Given the description of an element on the screen output the (x, y) to click on. 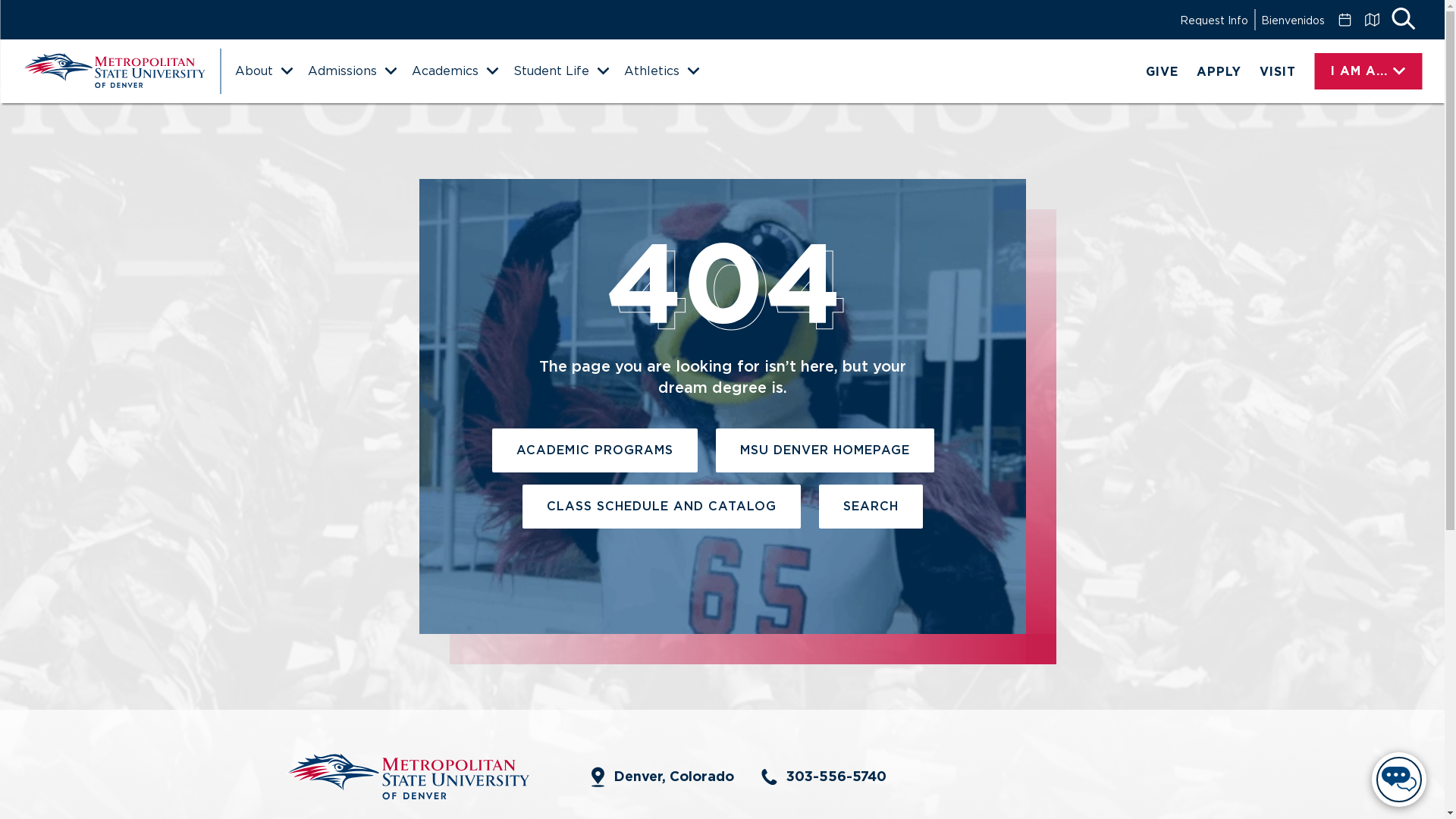
Request Info (1213, 20)
About (263, 71)
Calendar (1344, 19)
Map (1371, 19)
MSU Denver (114, 70)
Bienvenidos (1292, 20)
Search (1403, 19)
